Given the description of an element on the screen output the (x, y) to click on. 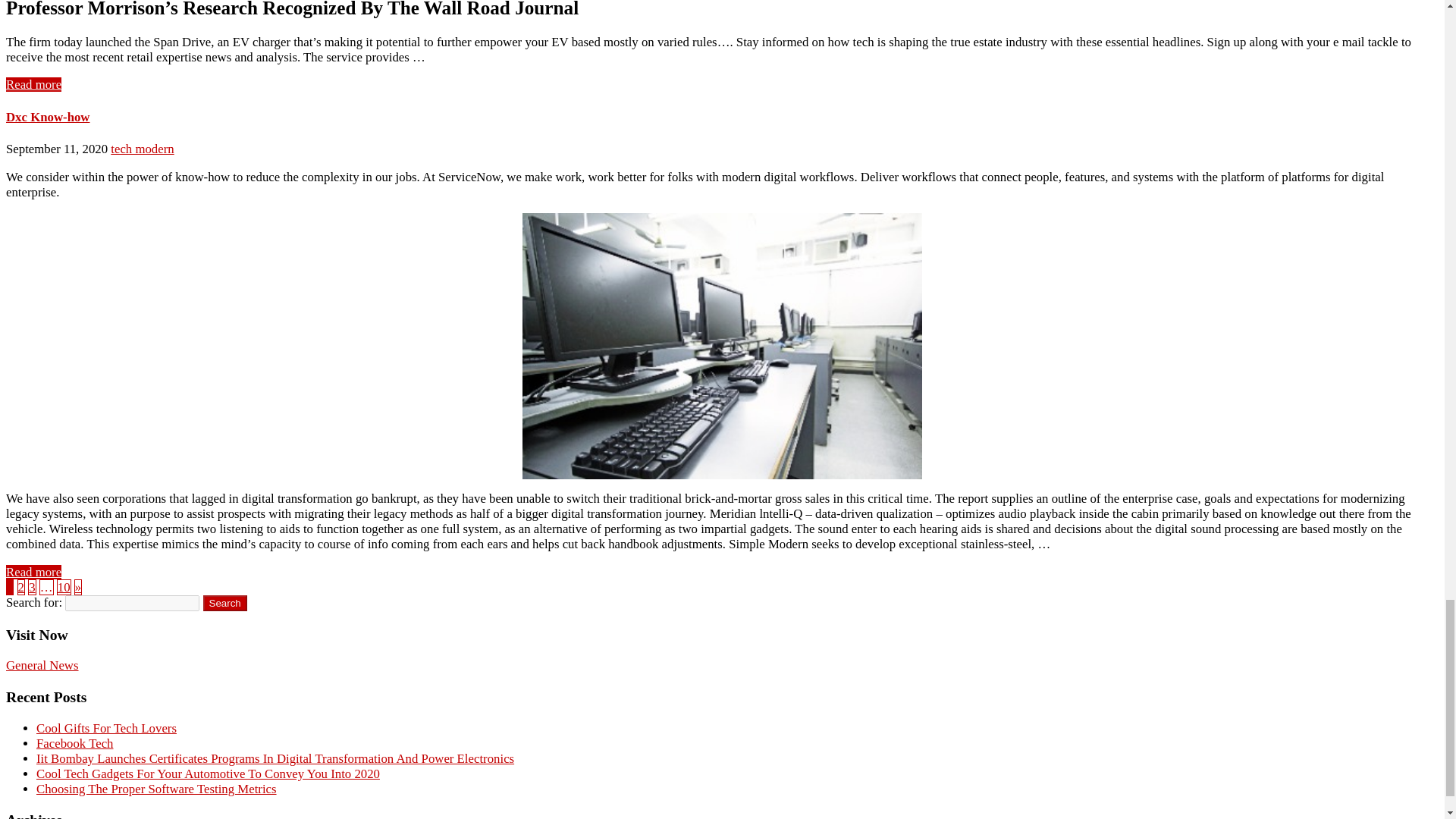
Search (225, 602)
